Given the description of an element on the screen output the (x, y) to click on. 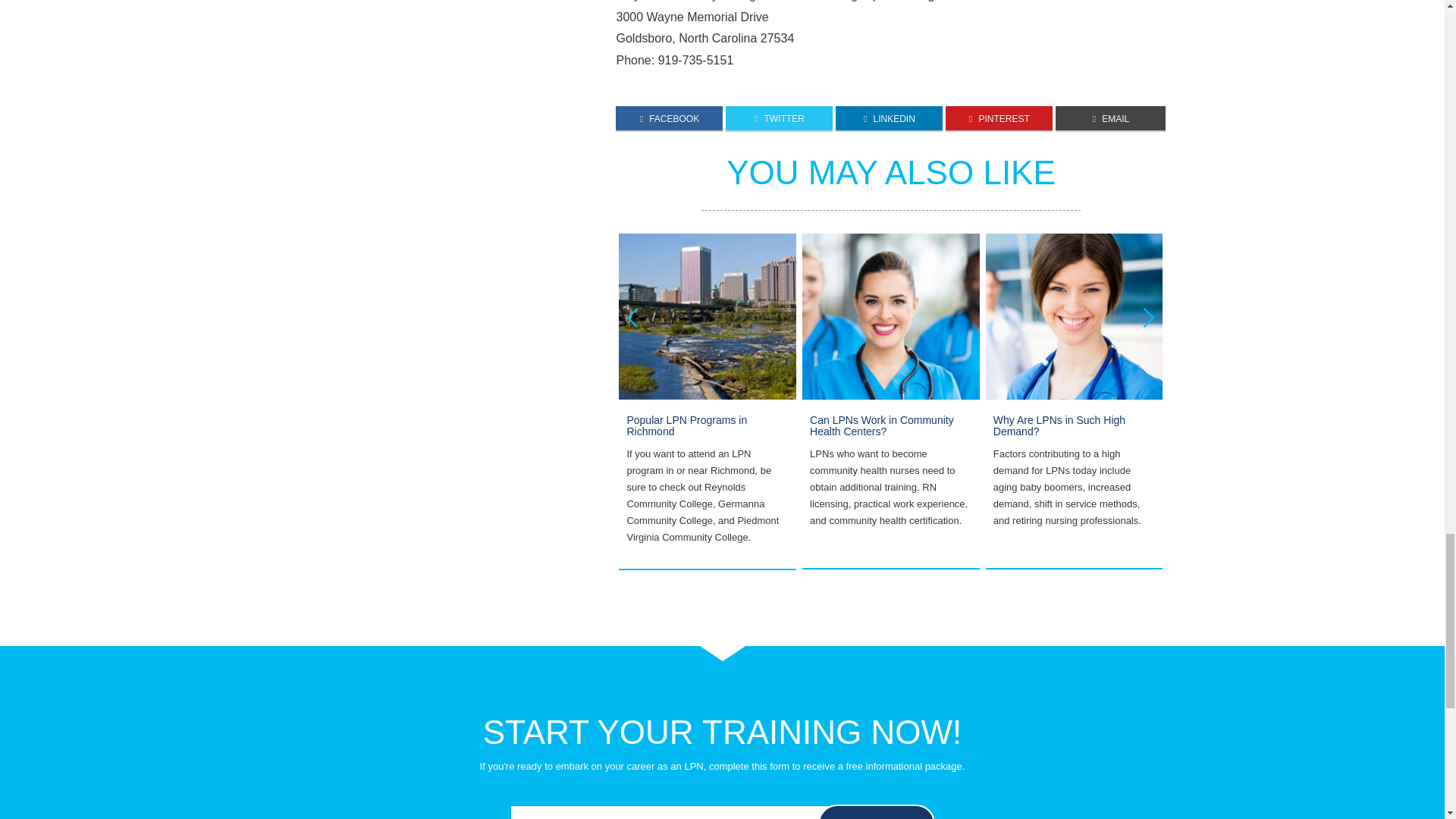
PINTEREST (998, 118)
TWITTER (778, 118)
LINKEDIN (888, 118)
EMAIL (1110, 118)
FACEBOOK (668, 118)
